Given the description of an element on the screen output the (x, y) to click on. 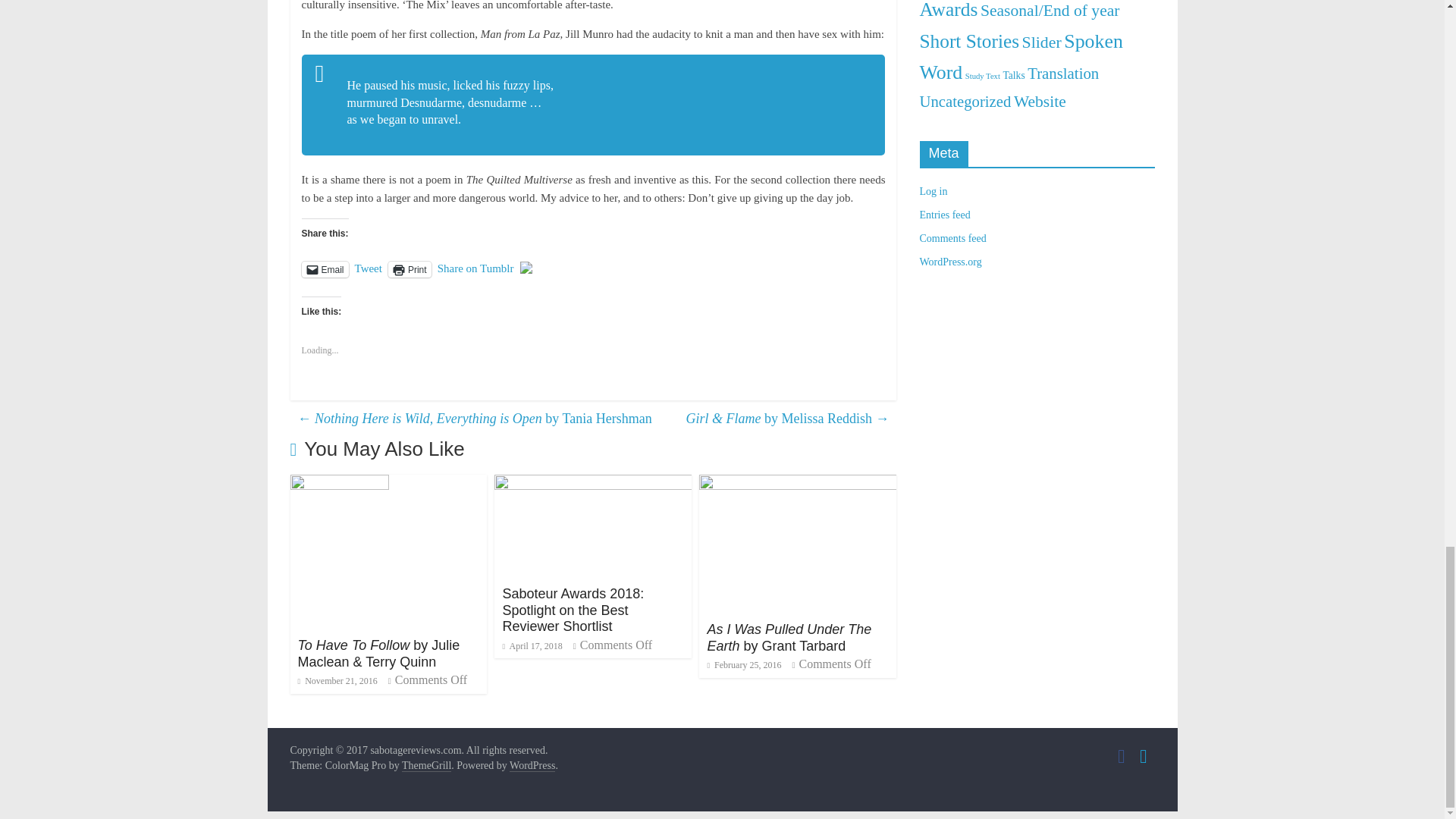
6:47 pm (337, 680)
Click to print (409, 269)
Tweet (368, 268)
Share on Tumblr (475, 268)
Click to email a link to a friend (325, 269)
Email (325, 269)
